Given the description of an element on the screen output the (x, y) to click on. 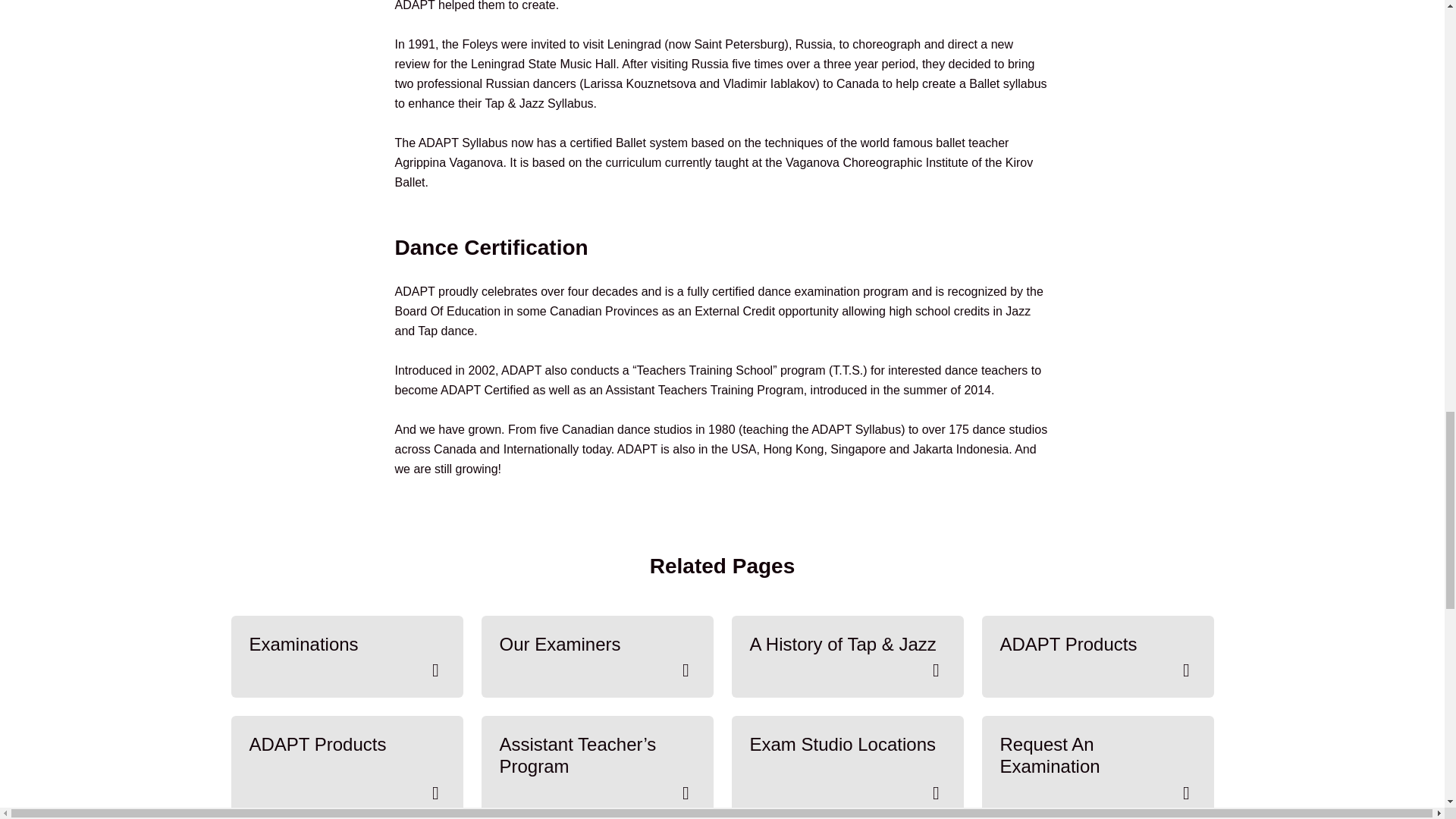
ADAPT Products (1096, 656)
Exam Studio Locations (846, 767)
Request An Examination (1096, 767)
ADAPT Products (346, 767)
Examinations (346, 656)
Our Examiners (596, 656)
